Given the description of an element on the screen output the (x, y) to click on. 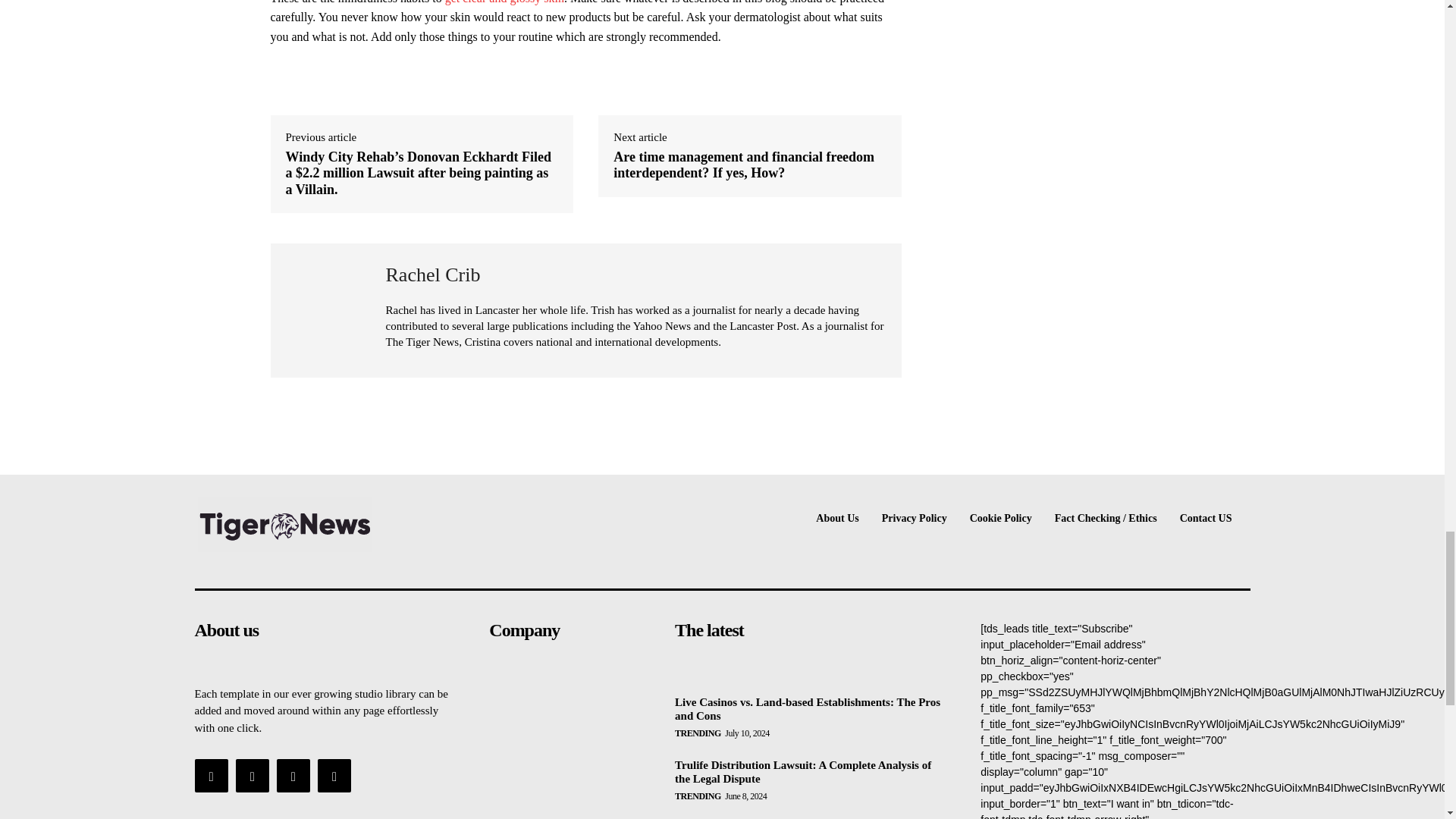
Rachel Crib (327, 310)
